Given the description of an element on the screen output the (x, y) to click on. 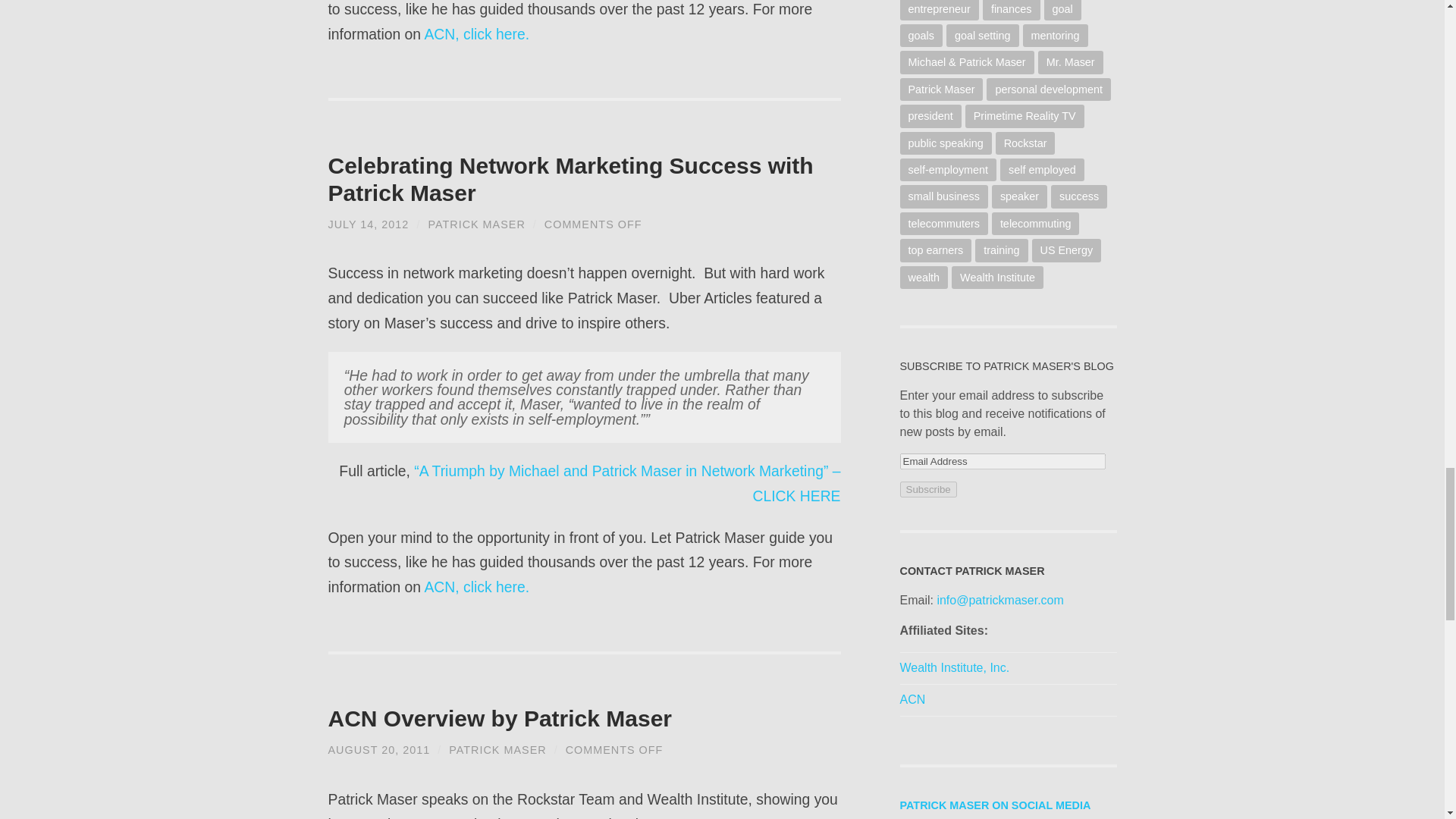
ACN Overview by Patrick Maser (499, 718)
Email Address (1002, 461)
AUGUST 20, 2011 (378, 749)
Celebrating Network Marketing Success with Patrick Maser (569, 179)
ACN, click here. (476, 586)
ACN, click here. (476, 33)
JULY 14, 2012 (368, 224)
PATRICK MASER (497, 749)
ACN Overview by Patrick Maser (378, 749)
Celebrating Network Marketing Success with Patrick Maser (368, 224)
PATRICK MASER (476, 224)
Celebrating Network Marketing Success with Patrick Maser (569, 179)
Subscribe (927, 489)
Posts by Patrick Maser (497, 749)
ACN Overview by Patrick Maser (499, 718)
